Given the description of an element on the screen output the (x, y) to click on. 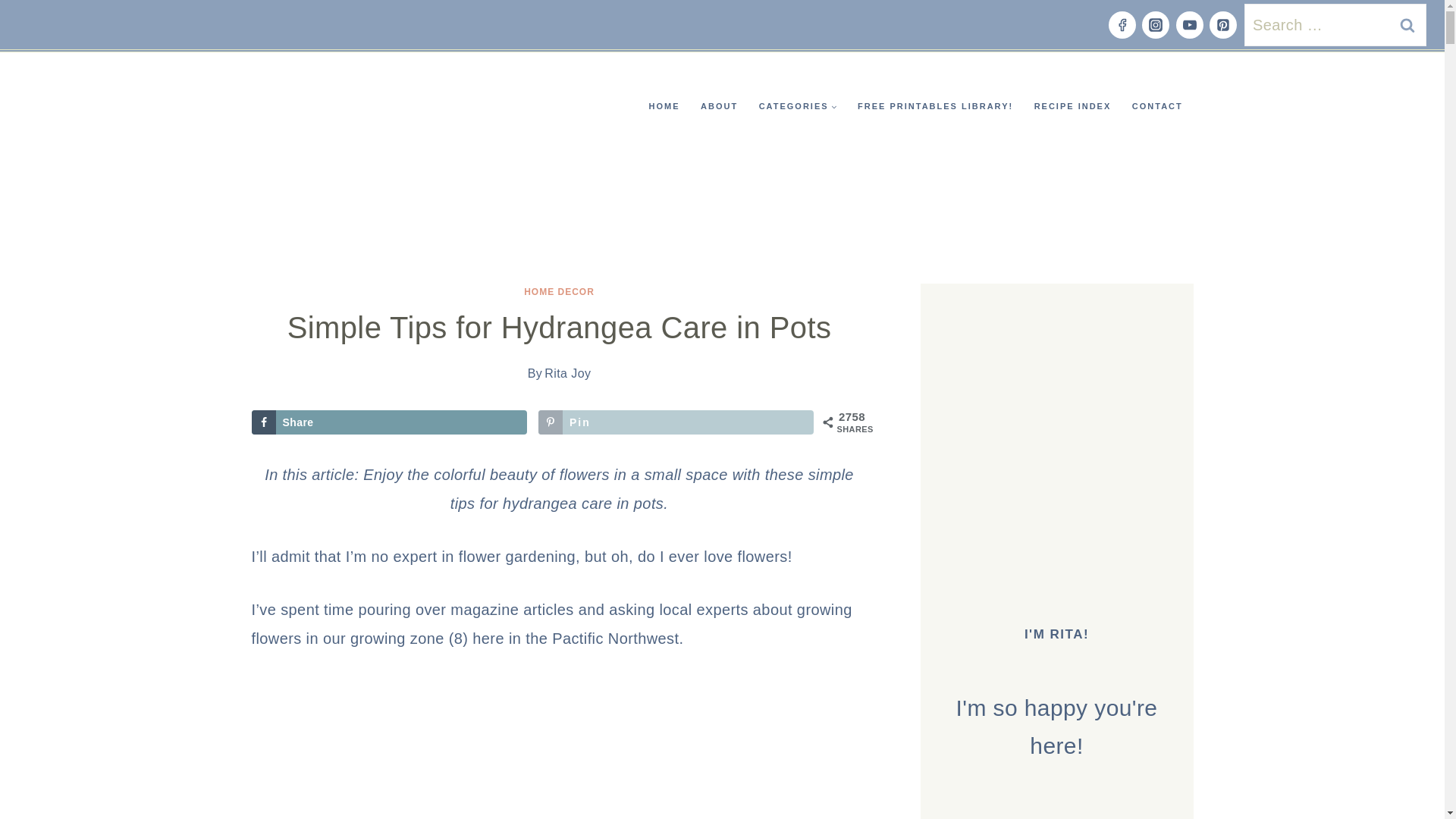
ABOUT (719, 106)
Save to Pinterest (675, 422)
Share on Facebook (389, 422)
CONTACT (1156, 106)
FREE PRINTABLES LIBRARY! (935, 106)
Pin (675, 422)
HOME (664, 106)
RECIPE INDEX (1072, 106)
Search (1407, 24)
HOME DECOR (559, 291)
Search (1407, 24)
CATEGORIES (797, 106)
Rita Joy (567, 373)
Share (389, 422)
Search (1407, 24)
